Given the description of an element on the screen output the (x, y) to click on. 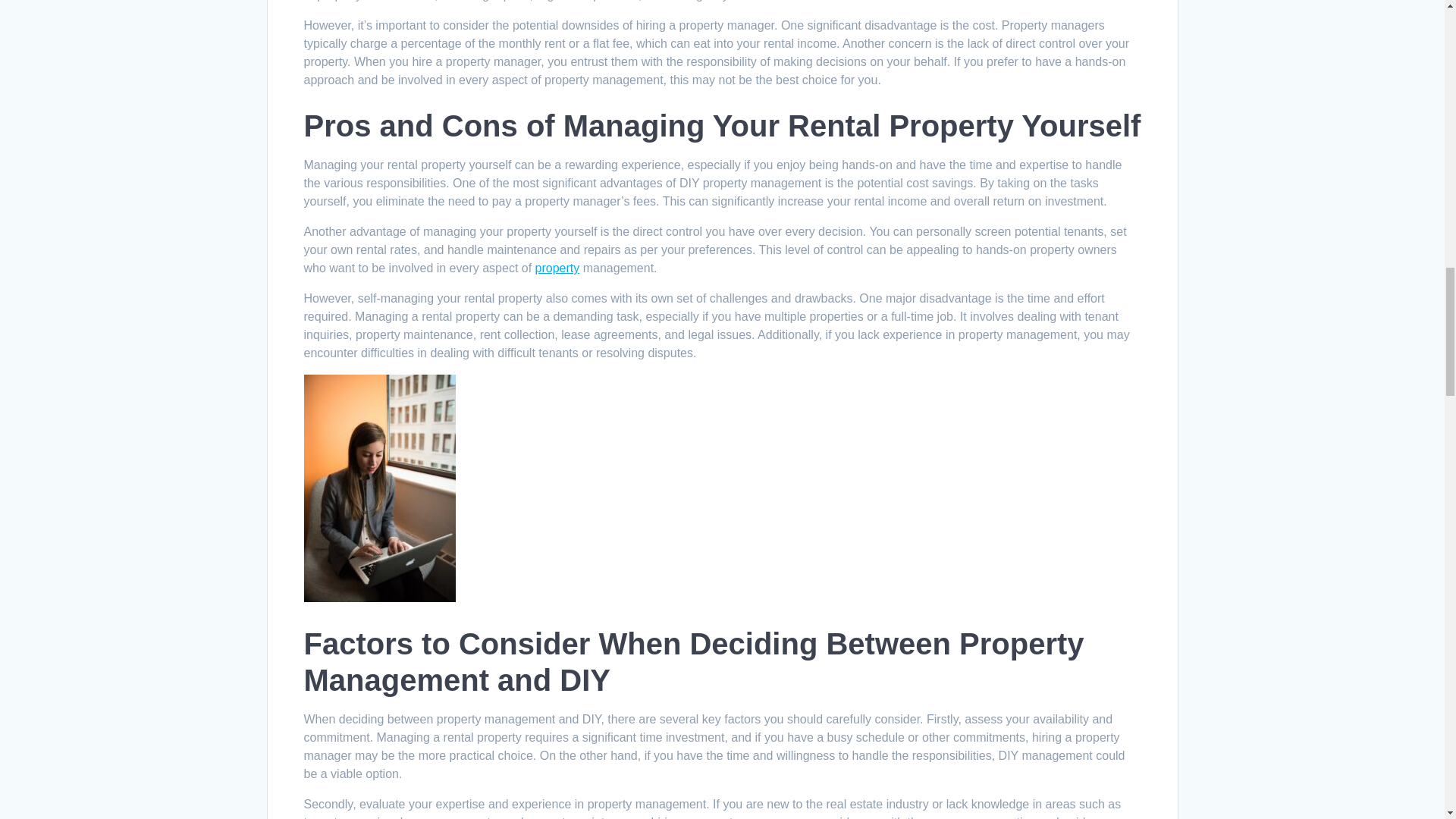
property (557, 267)
